Given the description of an element on the screen output the (x, y) to click on. 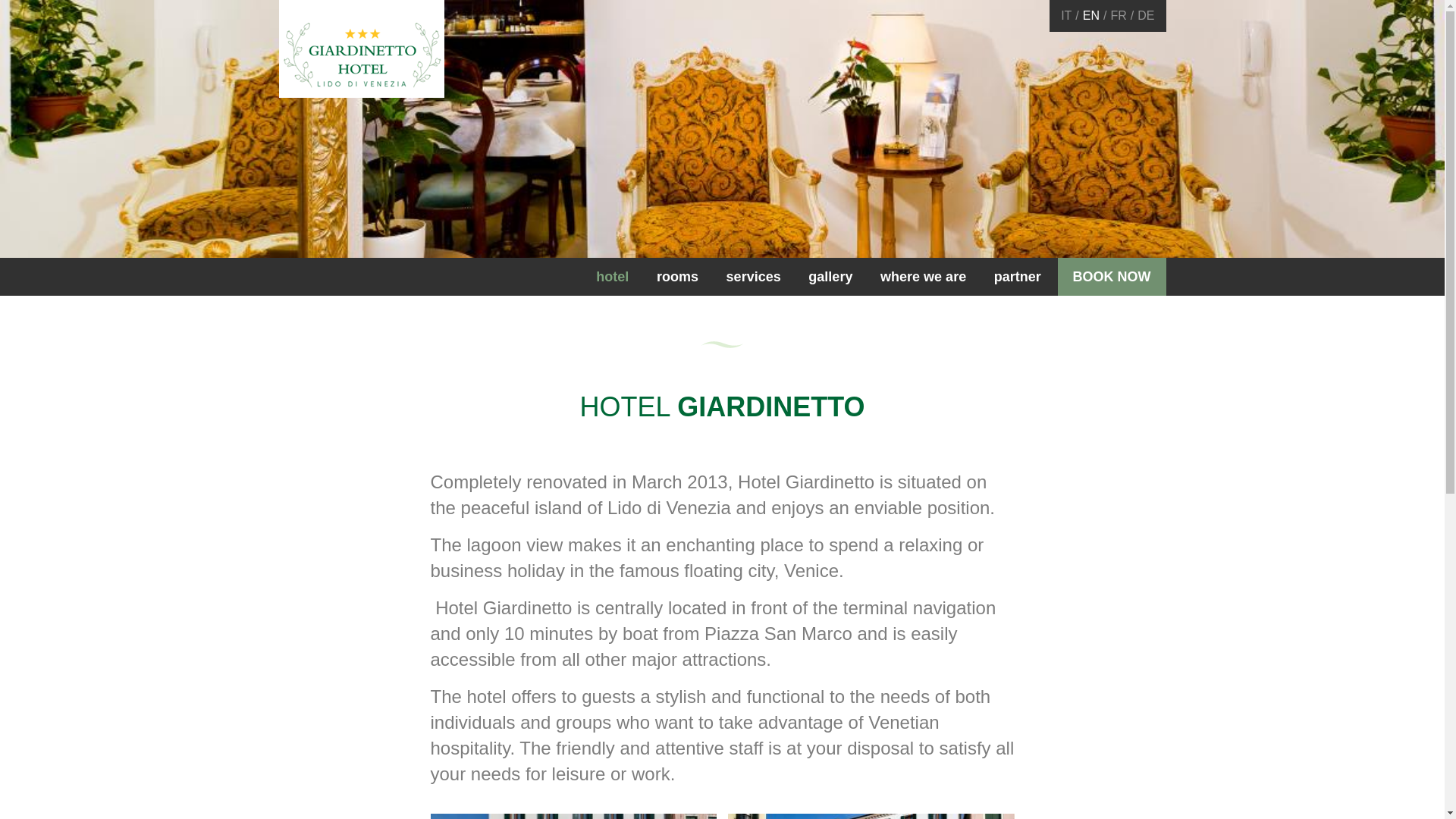
FR (1117, 15)
partner (1017, 276)
DE (1145, 15)
gallery (829, 276)
rooms (677, 276)
services (753, 276)
EN (1091, 15)
hotel (612, 276)
Home (361, 46)
where we are (922, 276)
BOOK NOW (1111, 276)
